Given the description of an element on the screen output the (x, y) to click on. 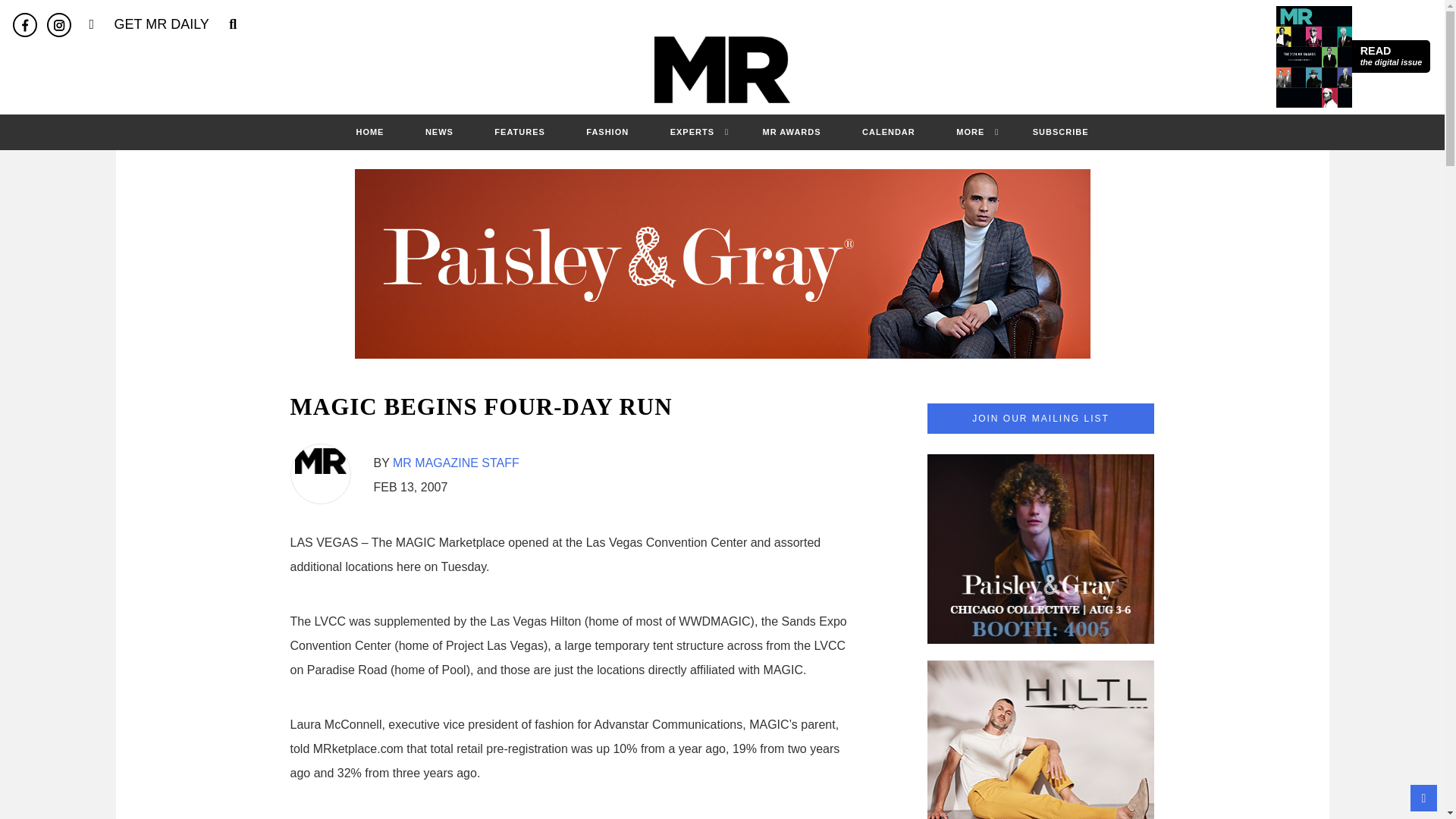
NEWS (439, 131)
HOME (369, 131)
FASHION (607, 131)
GET MR DAILY (160, 23)
MR AWARDS (791, 131)
MORE (970, 131)
CALENDAR (888, 131)
FEATURES (518, 131)
MR Magazine (721, 69)
EXPERTS (1390, 56)
